Given the description of an element on the screen output the (x, y) to click on. 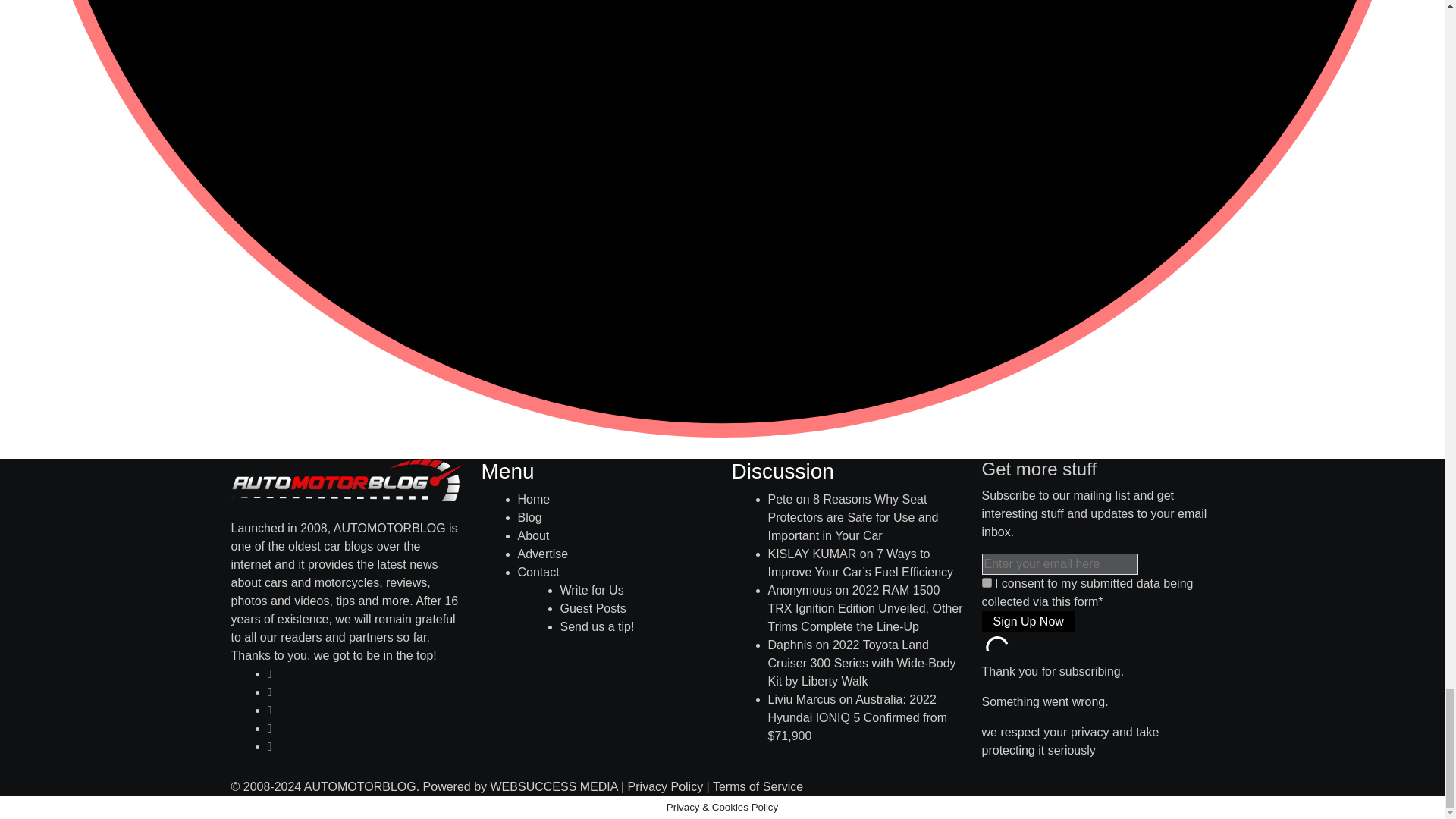
on (986, 583)
Sign Up Now (1027, 621)
